Given the description of an element on the screen output the (x, y) to click on. 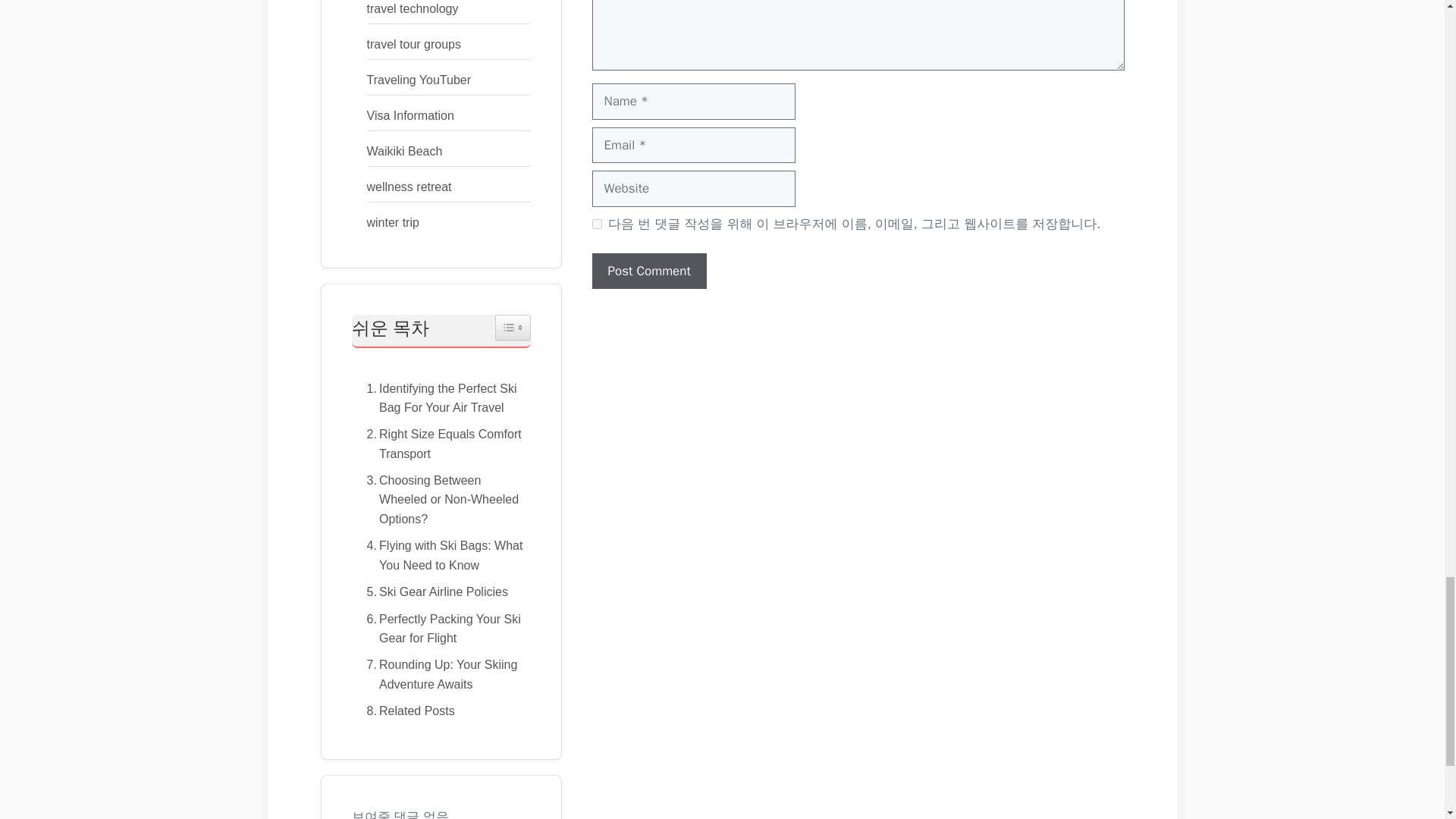
Post Comment (648, 271)
yes (596, 224)
Right Size Equals Comfort Transport (440, 444)
Post Comment (648, 271)
Related Posts (406, 711)
Flying with Ski Bags: What You Need to Know  (440, 555)
Rounding Up: Your Skiing Adventure Awaits (440, 674)
Choosing Between Wheeled or Non-Wheeled Options? (440, 499)
Ski Gear Airline Policies (433, 591)
Identifying the Perfect Ski Bag For Your Air Travel (440, 398)
Perfectly Packing Your Ski Gear for Flight (440, 628)
